Given the description of an element on the screen output the (x, y) to click on. 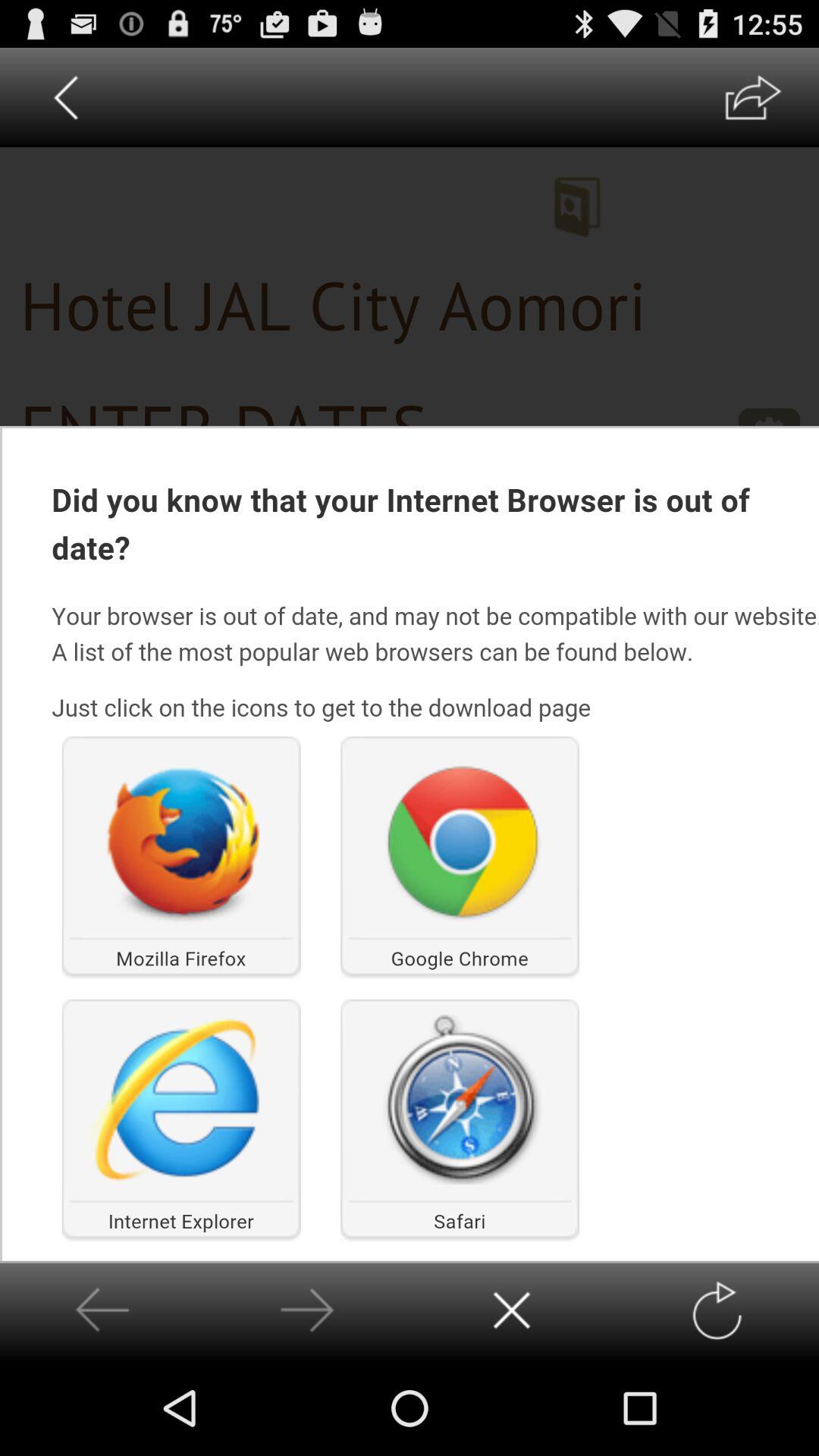
close the window (511, 1310)
